Given the description of an element on the screen output the (x, y) to click on. 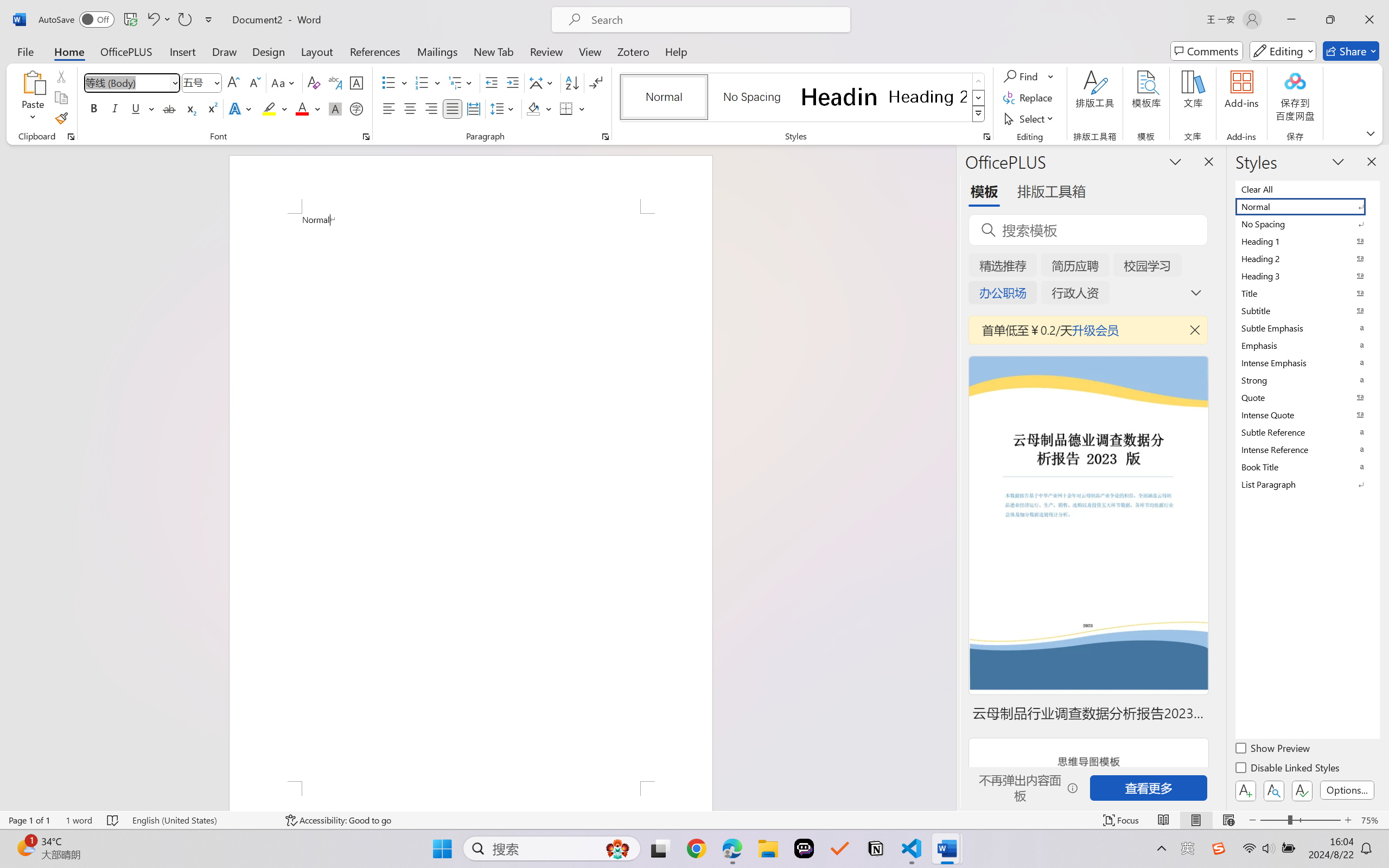
Decrease Indent (491, 82)
Web Layout (1228, 819)
Align Left (388, 108)
Disable Linked Styles (1287, 769)
Show Preview (1273, 749)
No Spacing (1306, 223)
Ribbon Display Options (1370, 132)
Word Count 1 word (78, 819)
Class: NetUIButton (1301, 790)
File Tab (24, 51)
Character Border (356, 82)
Font Color (308, 108)
More Options (1051, 75)
Microsoft search (715, 19)
